Given the description of an element on the screen output the (x, y) to click on. 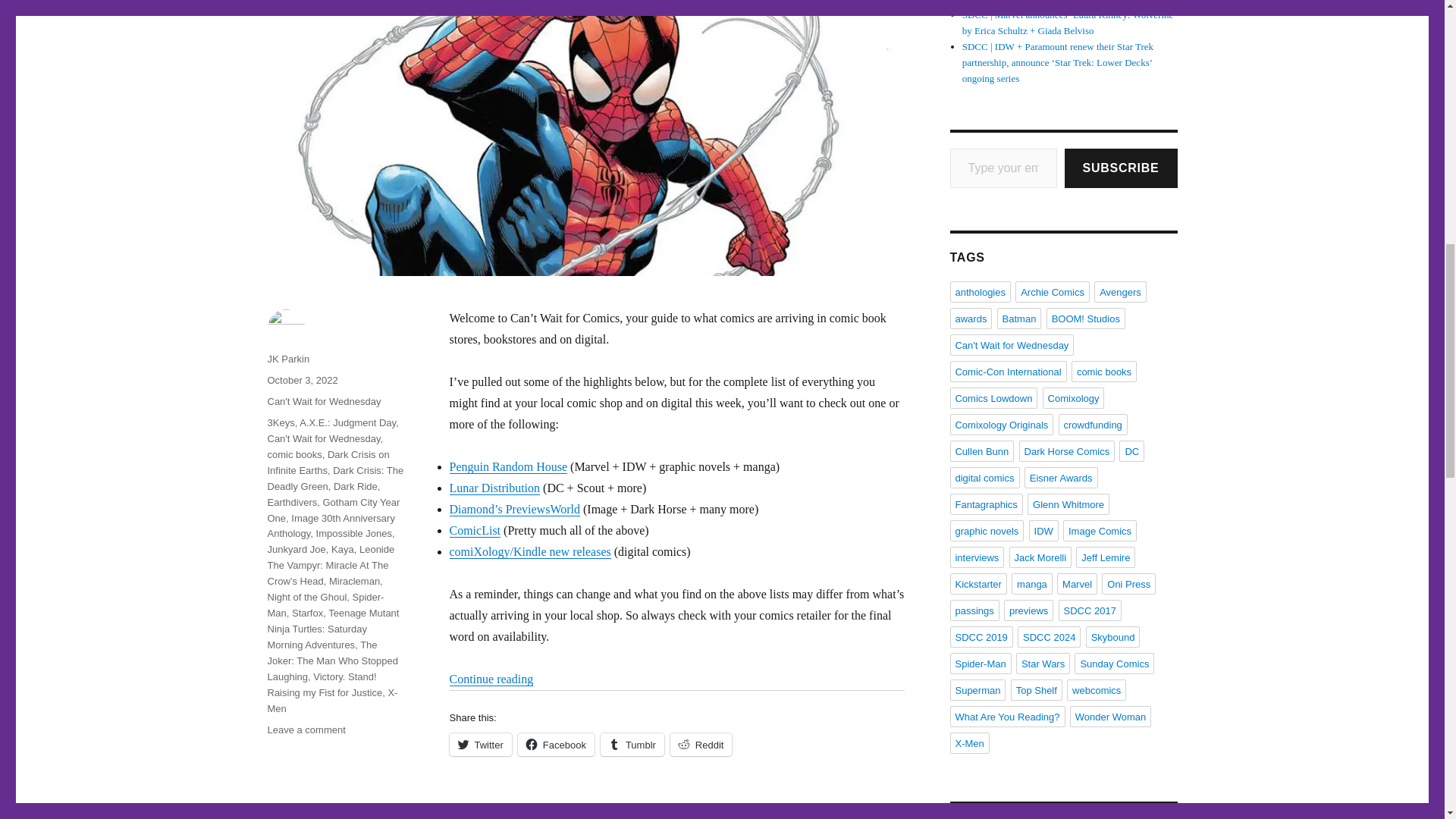
Click to share on Facebook (556, 744)
Gotham City Year One (332, 510)
Click to share on Reddit (700, 744)
Dark Ride (355, 486)
Reddit (700, 744)
Dark Crisis on Infinite Earths (327, 461)
3Keys (280, 422)
October 3, 2022 (301, 379)
Can't Wait for Wednesday (323, 438)
Dark Crisis: The Deadly Green (334, 478)
Miracleman (354, 581)
A.X.E.: Judgment Day (347, 422)
Facebook (556, 744)
Please fill in this field. (1003, 168)
Earthdivers (291, 501)
